Given the description of an element on the screen output the (x, y) to click on. 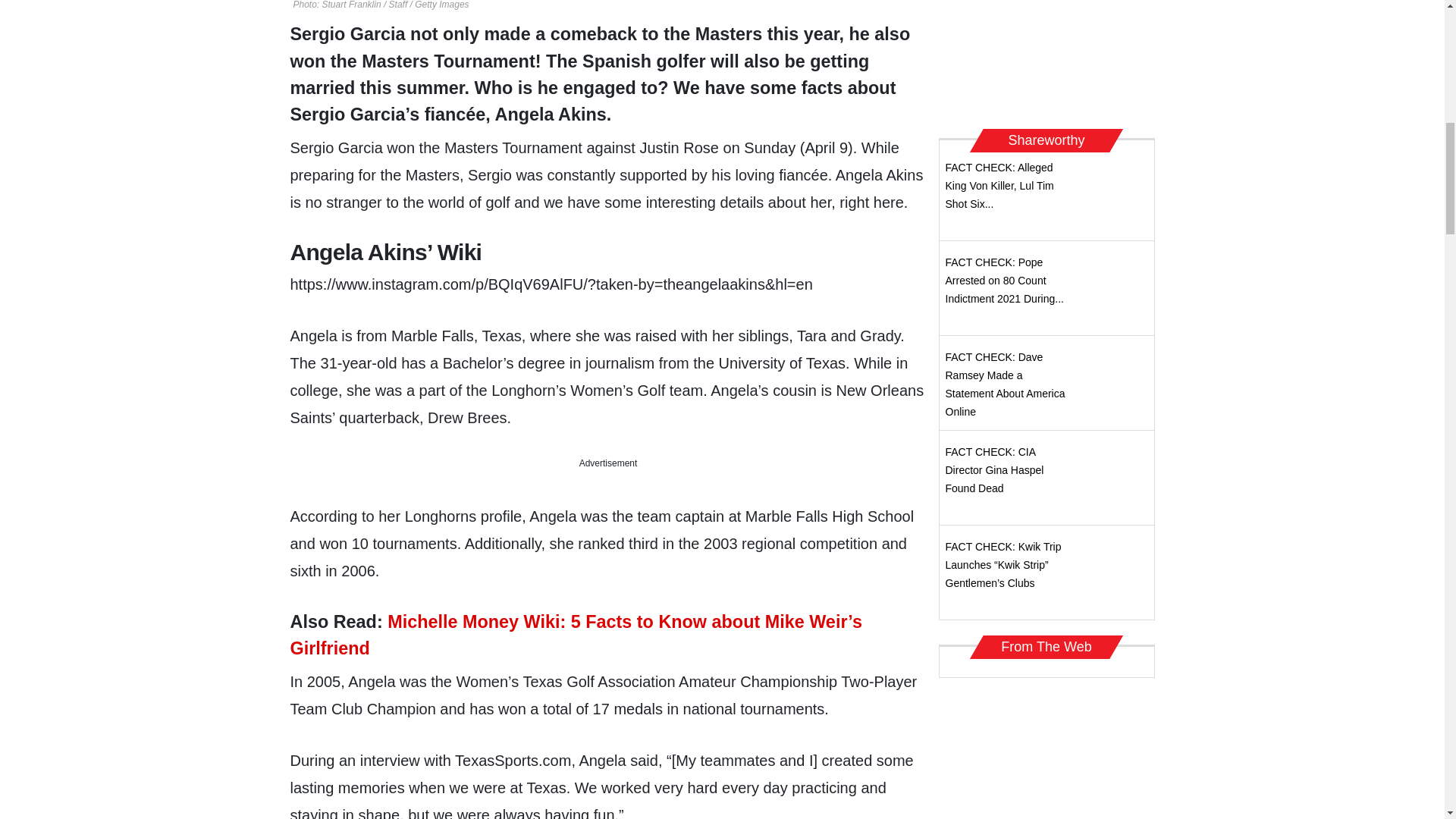
Advertisement (1046, 59)
FACT CHECK: CIA Director Gina Haspel Found Dead (993, 469)
FACT CHECK: Alleged King Von Killer, Lul Tim Shot Six... (998, 185)
